Given the description of an element on the screen output the (x, y) to click on. 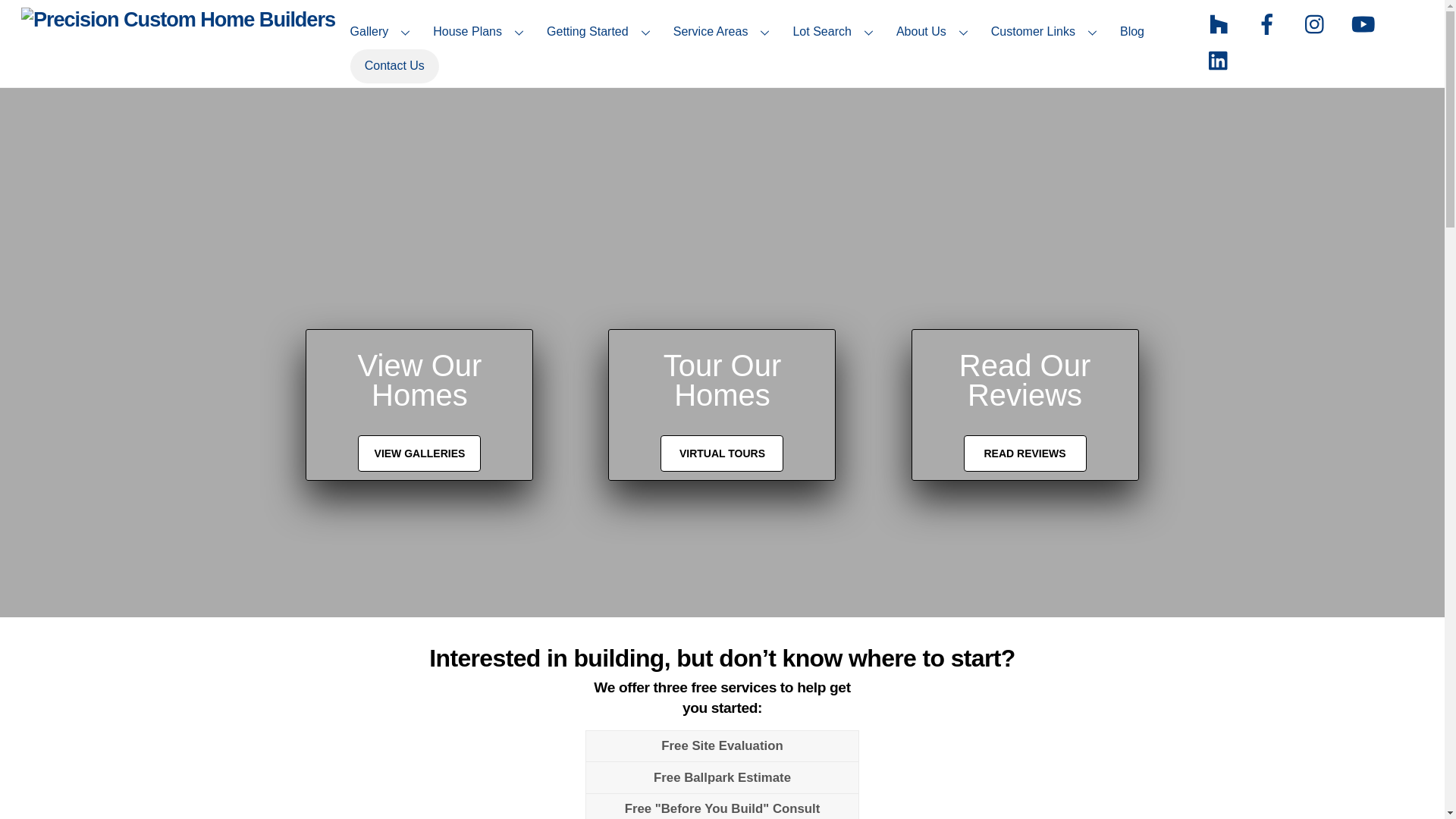
About Us (933, 31)
Precision Custom Home Builders (177, 19)
Service Areas (723, 31)
Getting Started (600, 31)
Lot Search (835, 31)
Gallery (382, 31)
House Plans (480, 31)
